Given the description of an element on the screen output the (x, y) to click on. 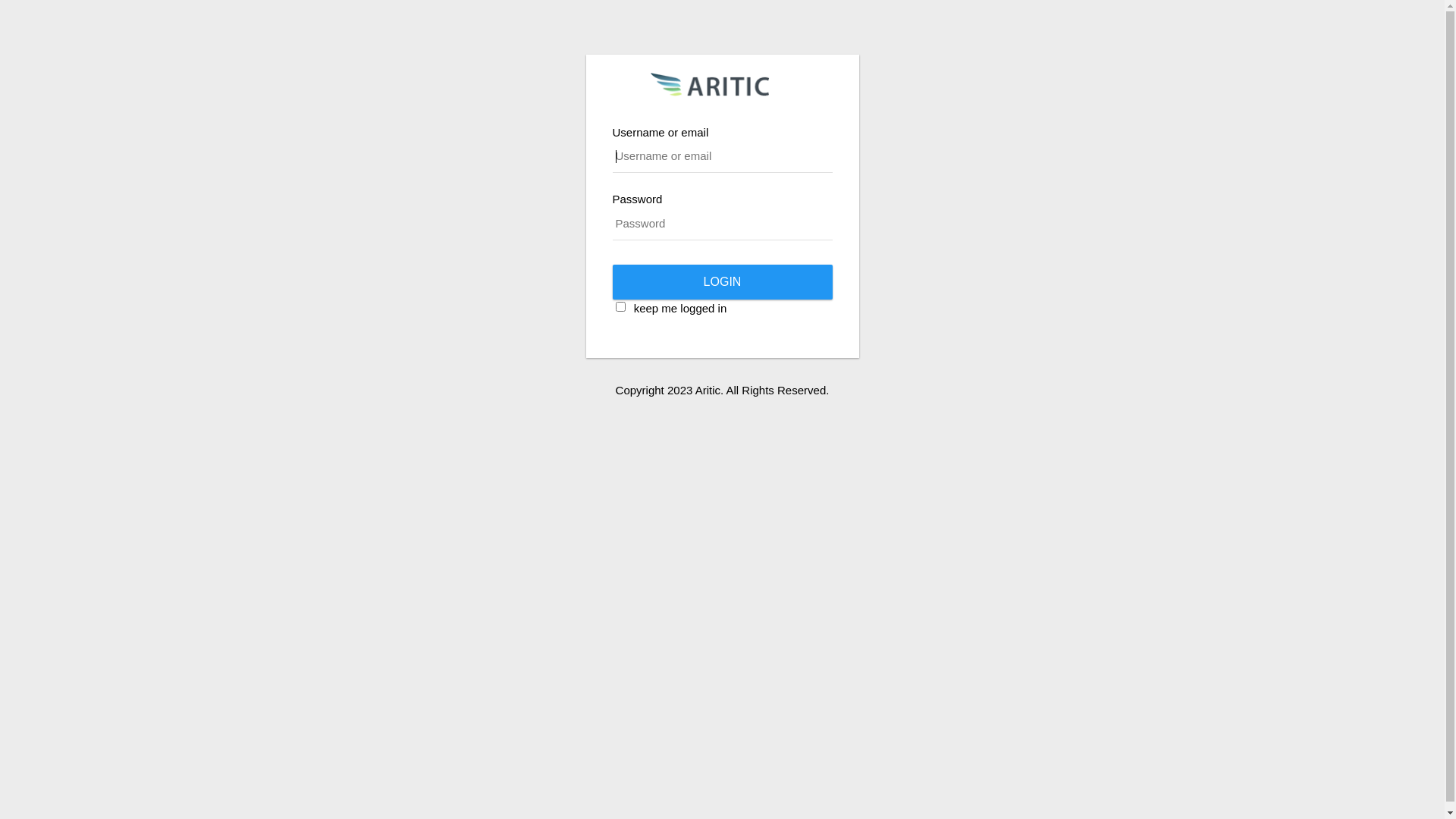
login Element type: text (722, 281)
